Given the description of an element on the screen output the (x, y) to click on. 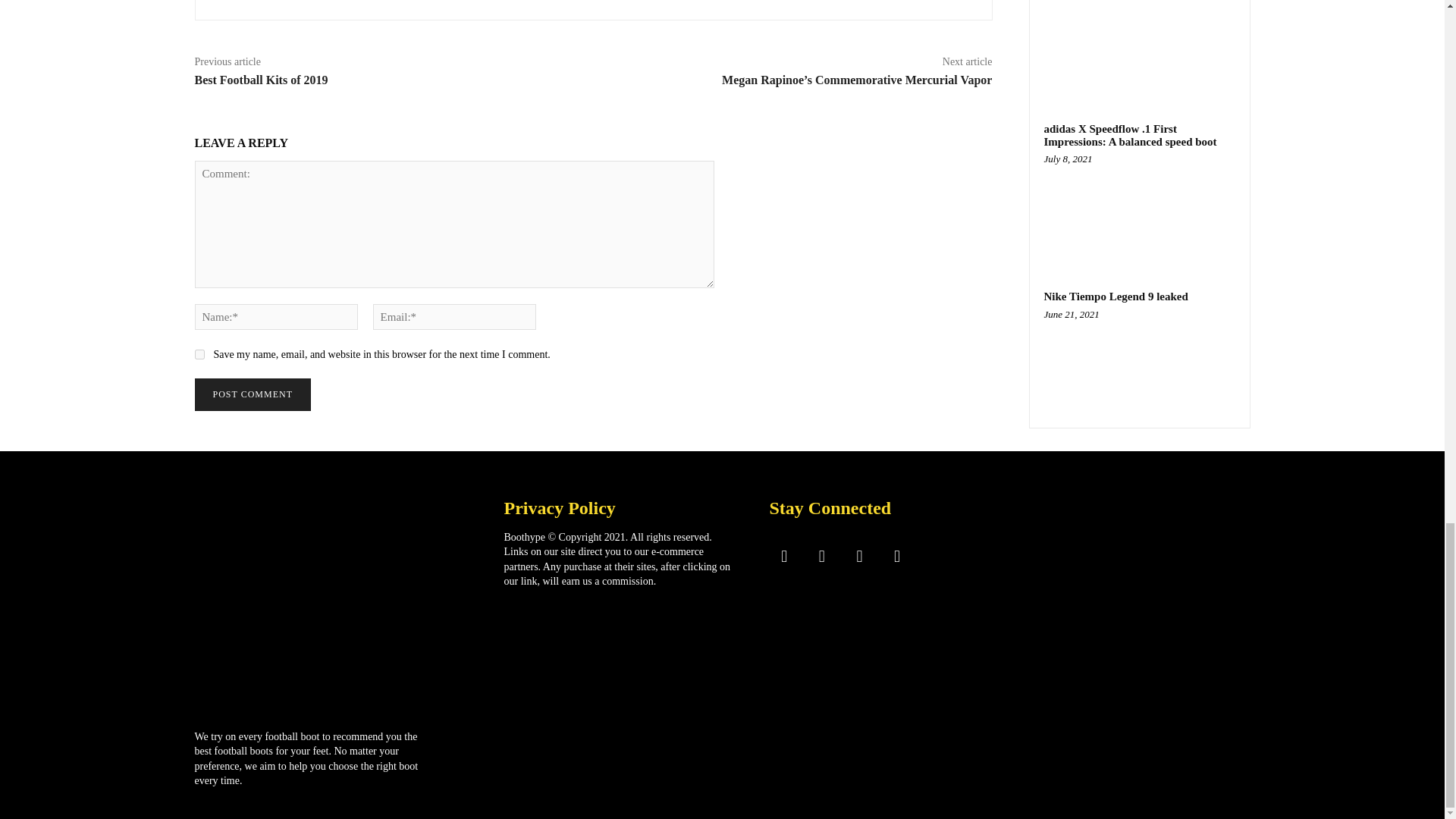
yes (198, 354)
Post Comment (251, 394)
Nasrul Norman (247, 2)
Post Comment (251, 394)
Best Football Kits of 2019 (260, 79)
